Given the description of an element on the screen output the (x, y) to click on. 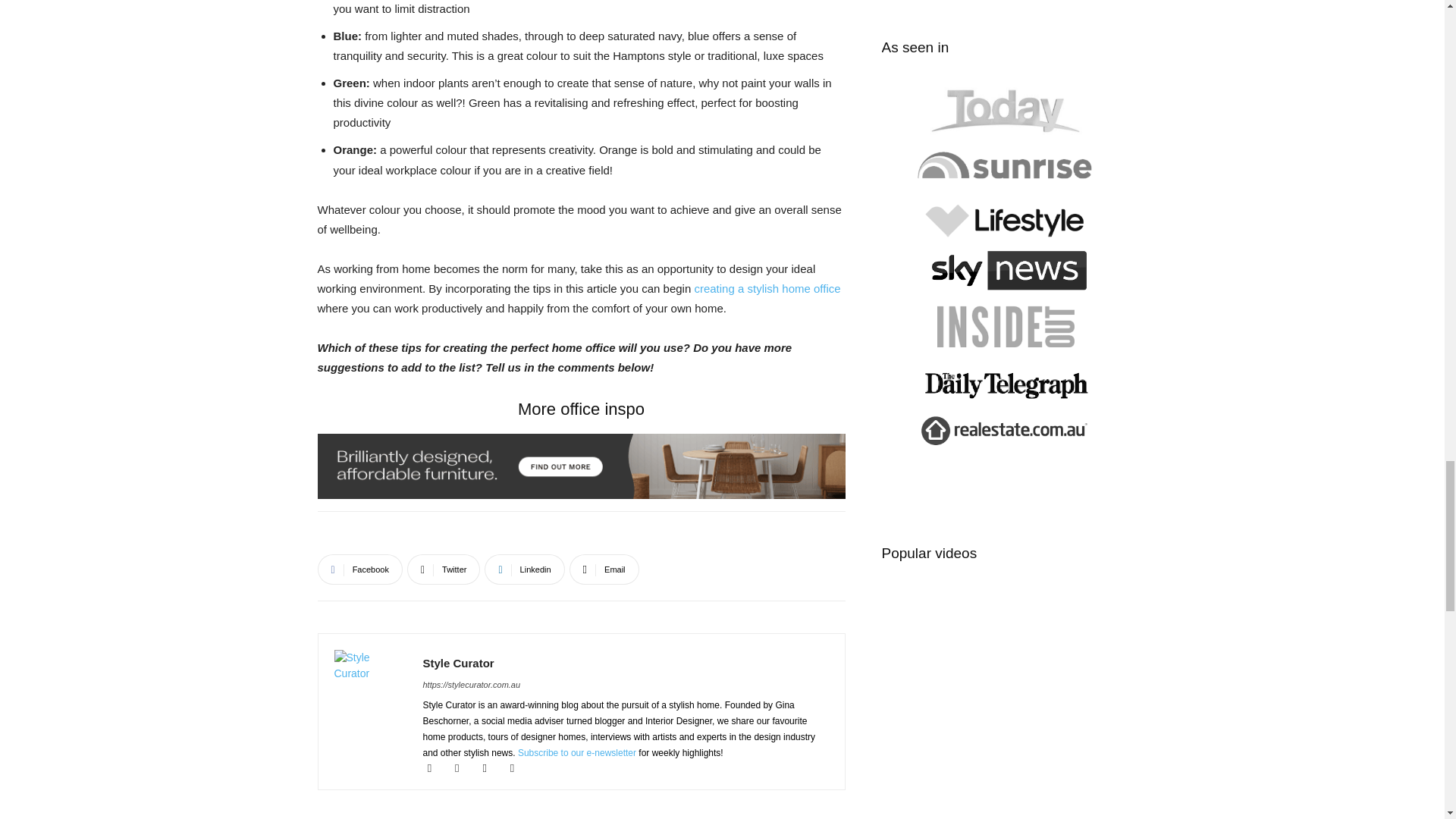
Facebook (359, 569)
Twitter (443, 569)
bottomFacebookLike (430, 535)
